Given the description of an element on the screen output the (x, y) to click on. 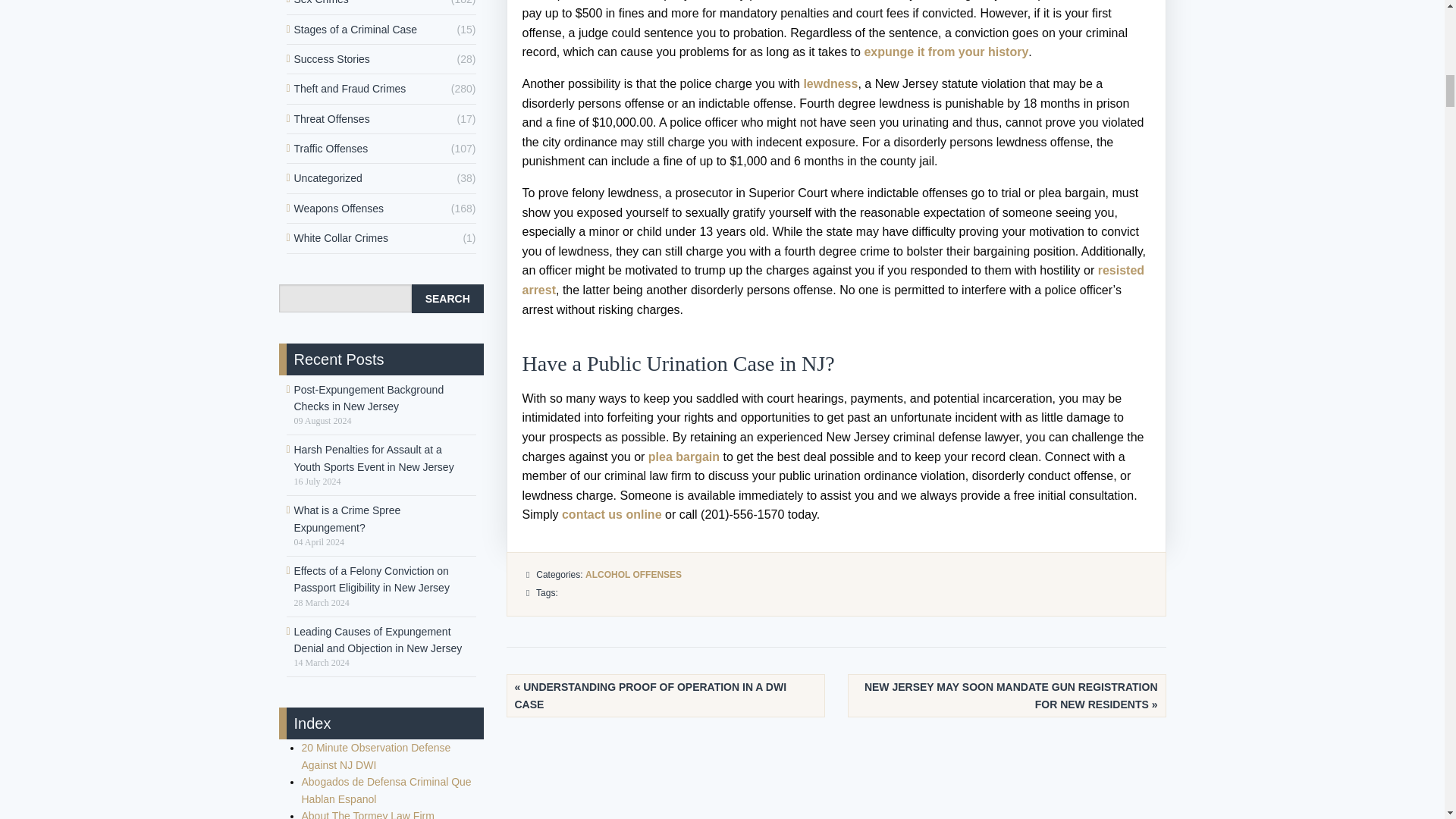
plea bargain (683, 456)
Search (447, 298)
expunge it from your history (945, 51)
lewdness (830, 83)
resisted arrest (832, 279)
